Given the description of an element on the screen output the (x, y) to click on. 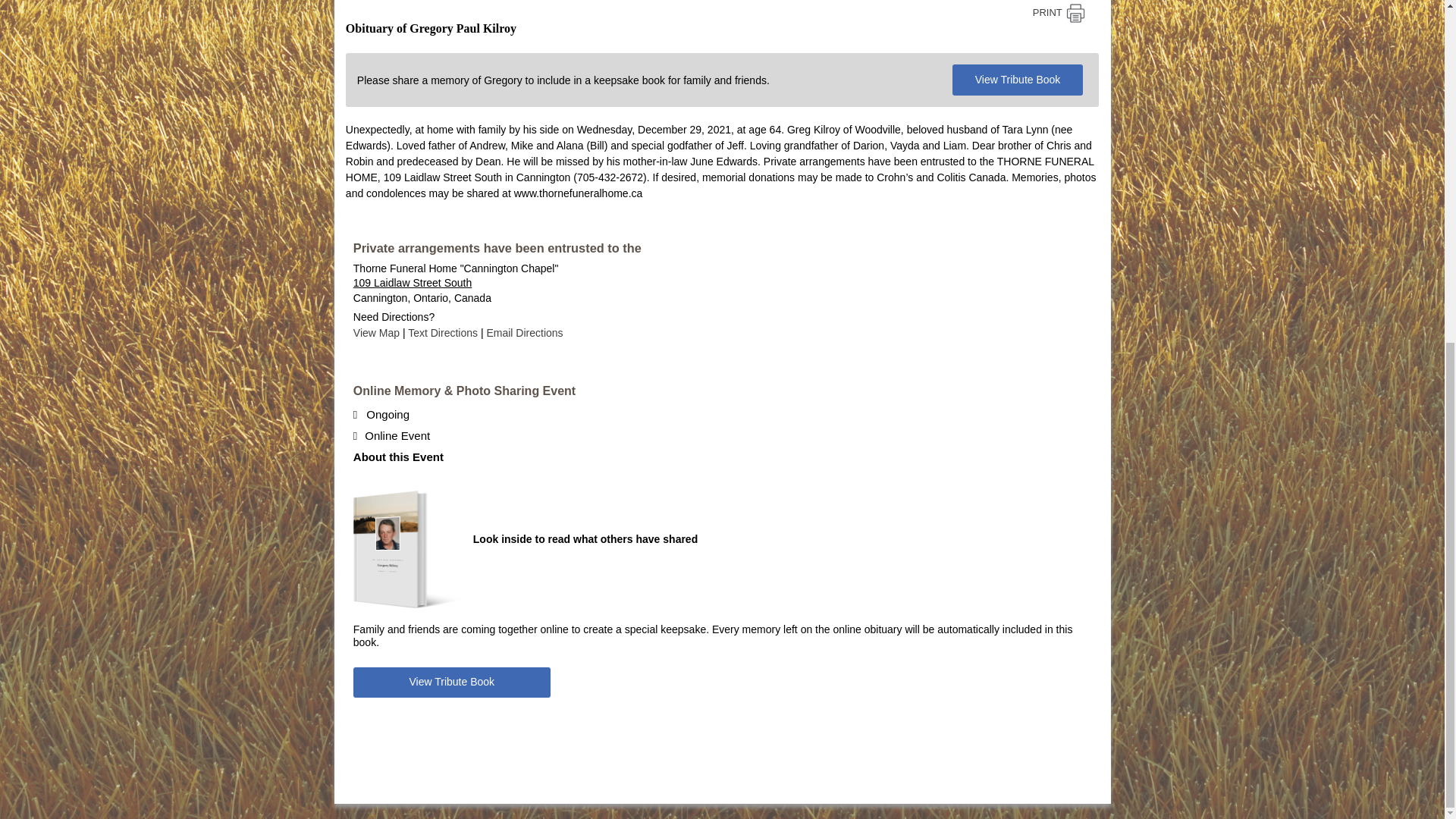
View Tribute Book (1017, 79)
View Tribute Book (451, 682)
Text Directions (443, 332)
Print (1058, 13)
PRINT (1058, 13)
View Map (378, 332)
Email Directions (524, 332)
